Given the description of an element on the screen output the (x, y) to click on. 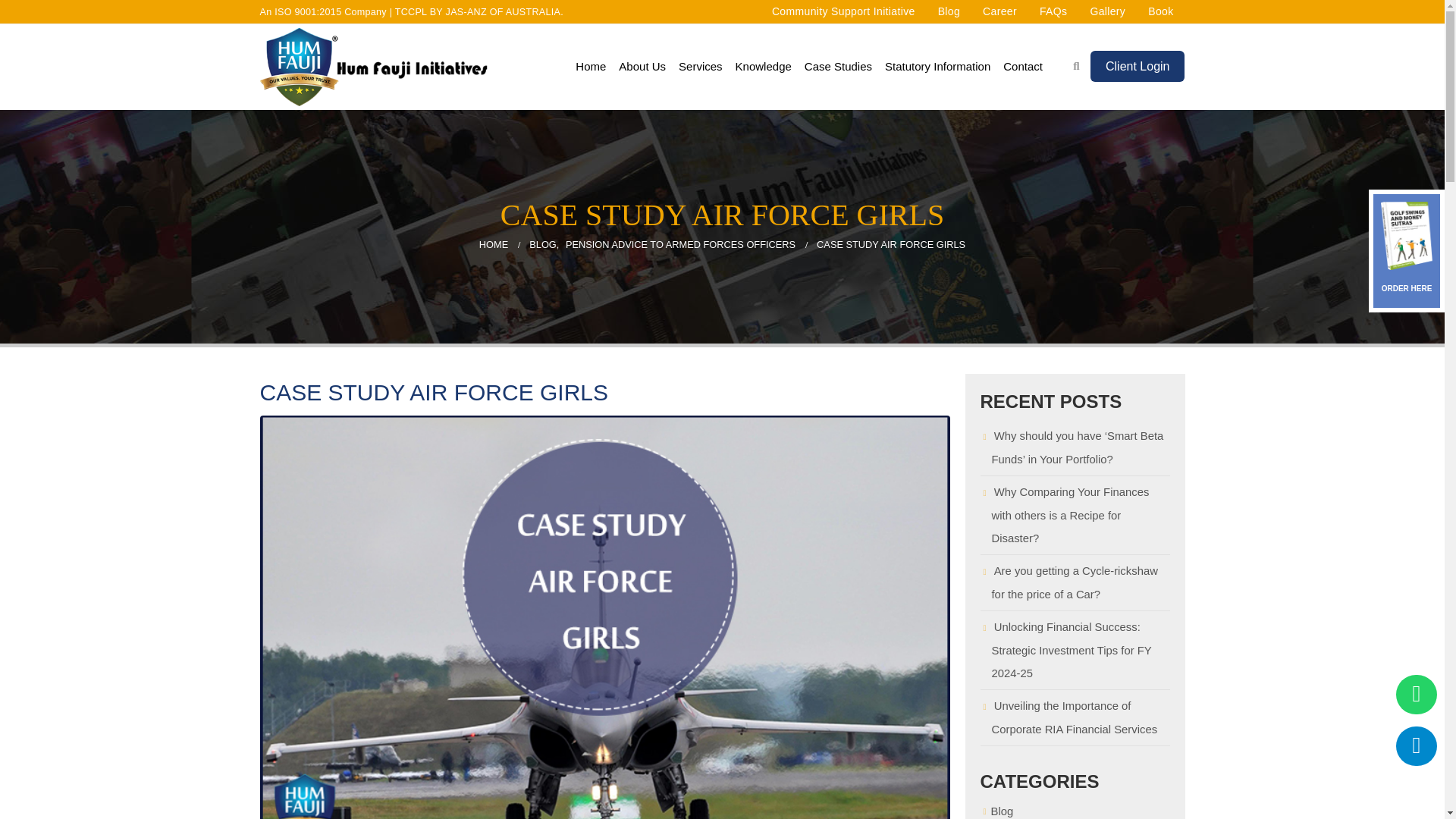
Gallery (1107, 11)
Blog (948, 11)
Statutory Information (937, 66)
Contact (1022, 66)
Go to Home Page (493, 244)
Community Support Initiative (843, 11)
About Us (641, 66)
Knowledge (763, 66)
Book (1160, 11)
Services (700, 66)
Home (590, 66)
Case Studies (837, 66)
Career (999, 11)
FAQs (1052, 11)
Hum Fauji Initiatives - Our Values Your Trust (372, 66)
